Given the description of an element on the screen output the (x, y) to click on. 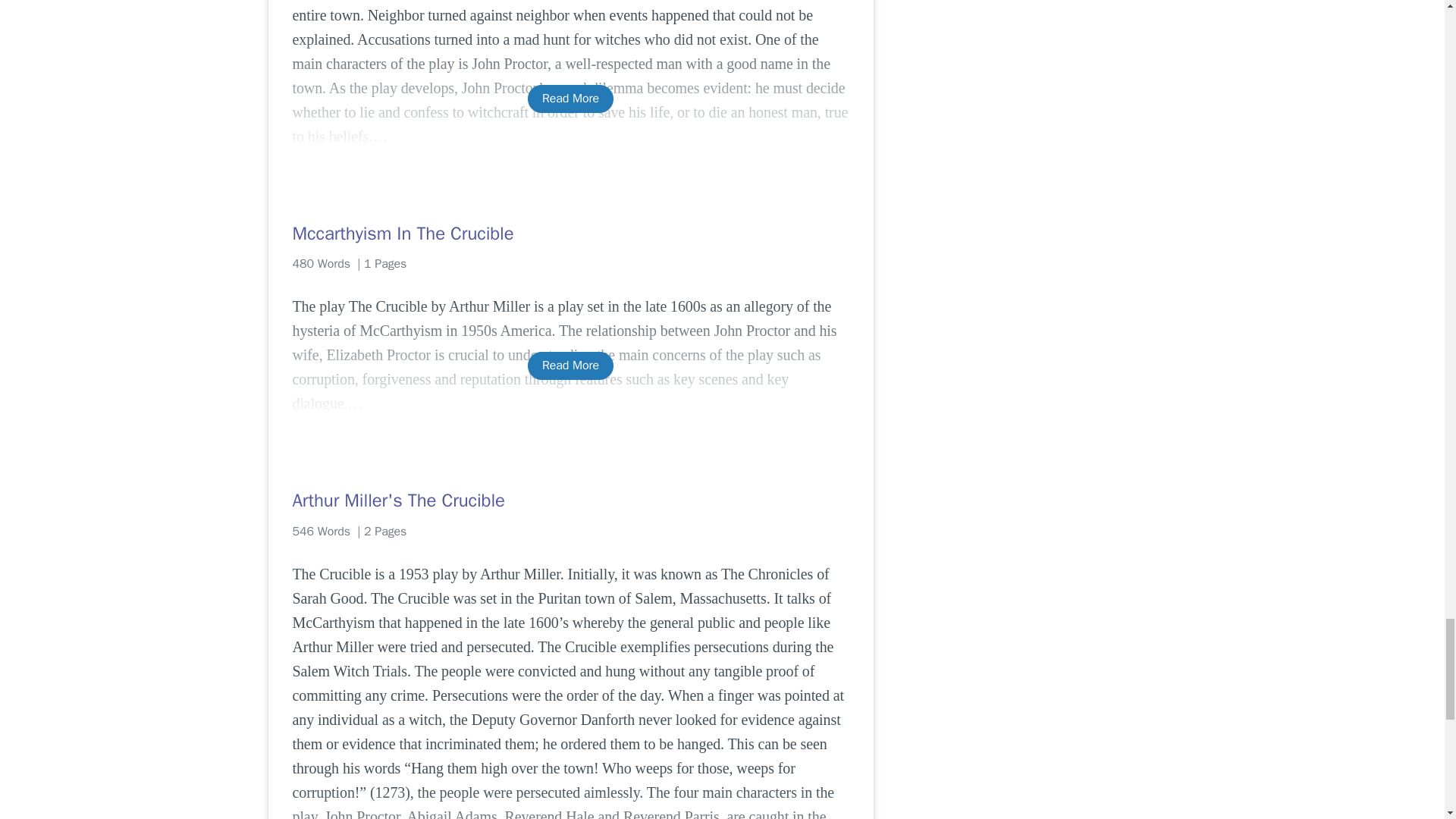
Read More (569, 99)
Mccarthyism In The Crucible (570, 233)
Read More (569, 366)
Arthur Miller's The Crucible (570, 500)
